Given the description of an element on the screen output the (x, y) to click on. 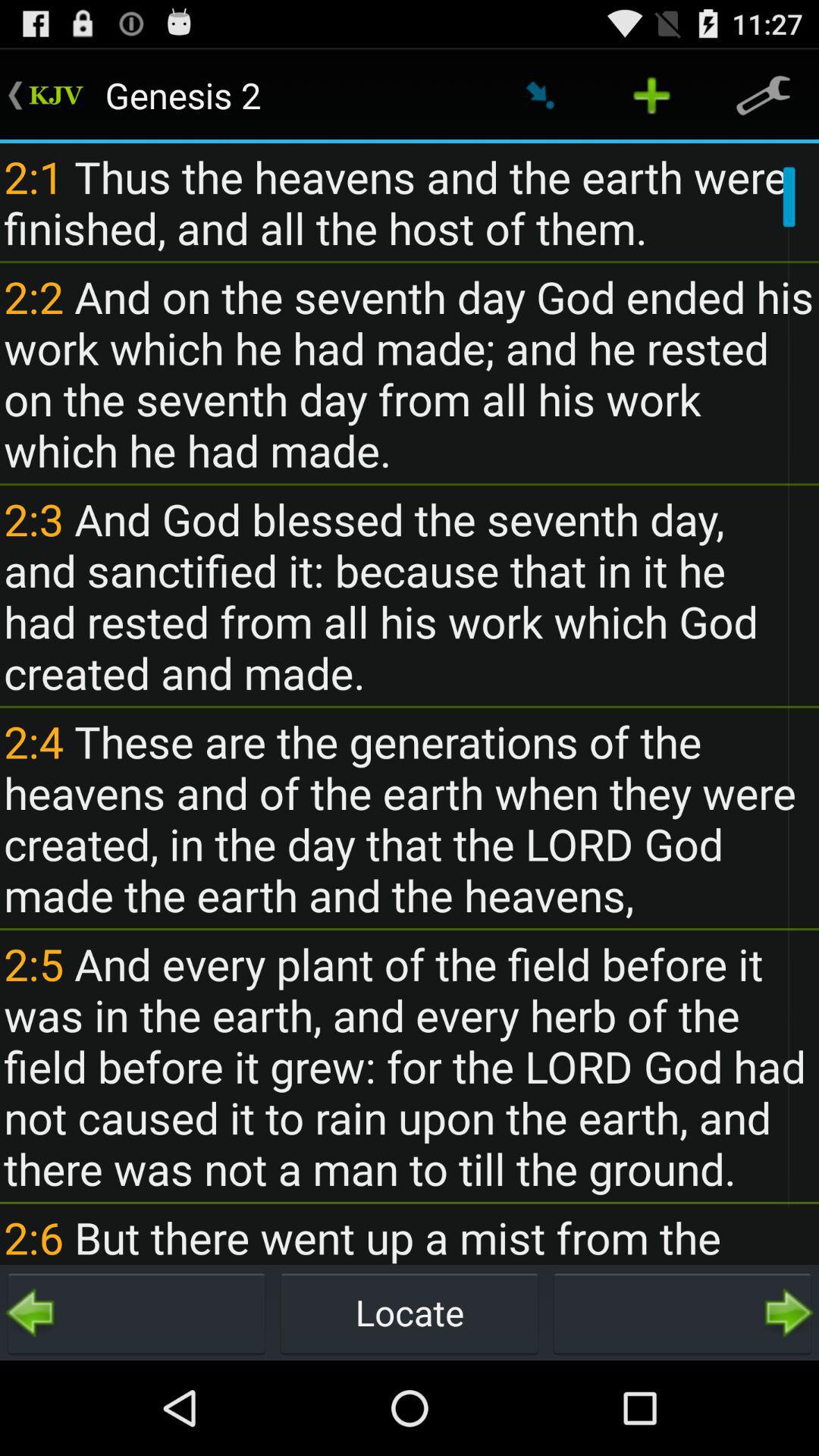
go to next page (682, 1312)
